Given the description of an element on the screen output the (x, y) to click on. 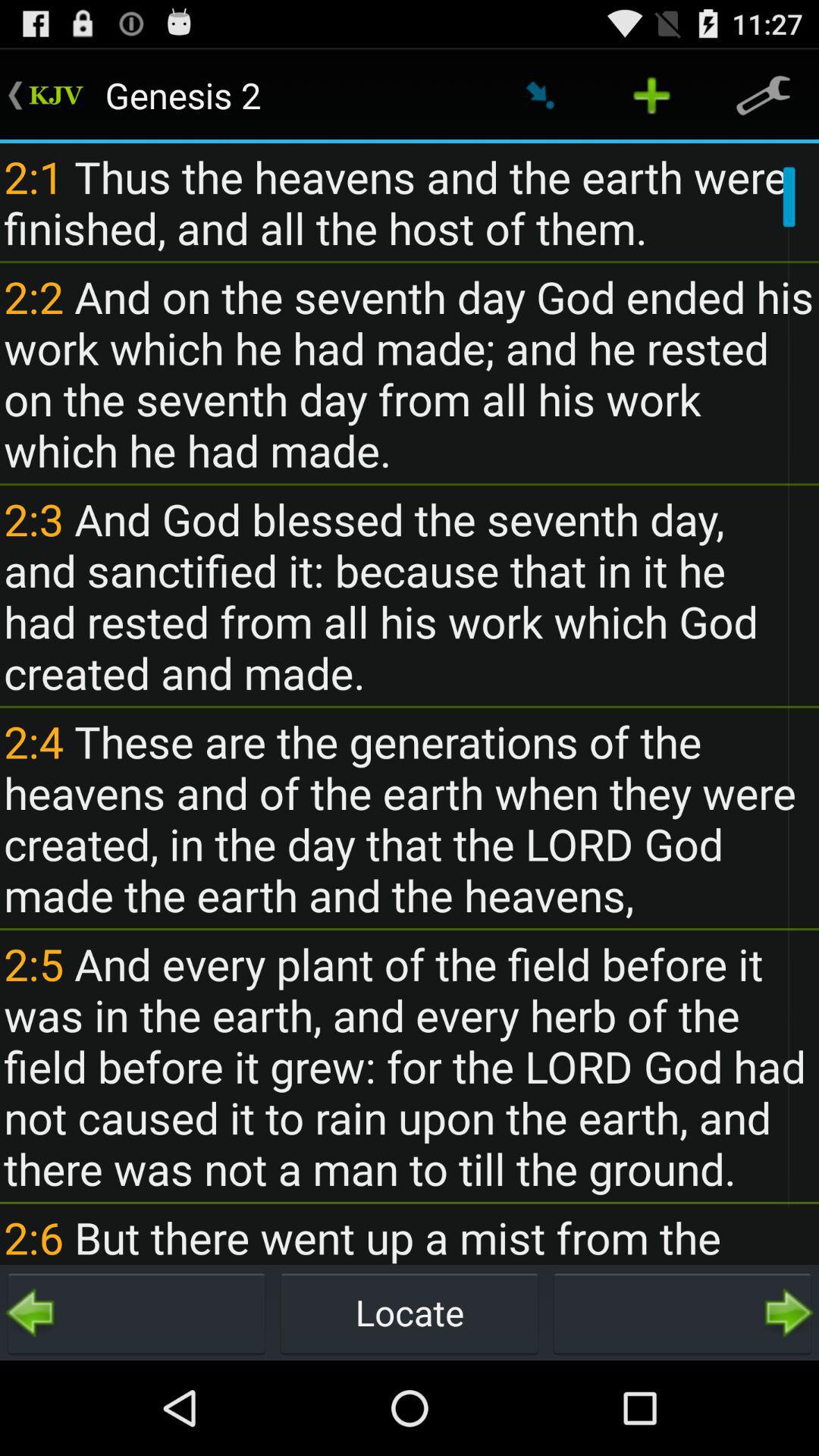
go to next page (682, 1312)
